Given the description of an element on the screen output the (x, y) to click on. 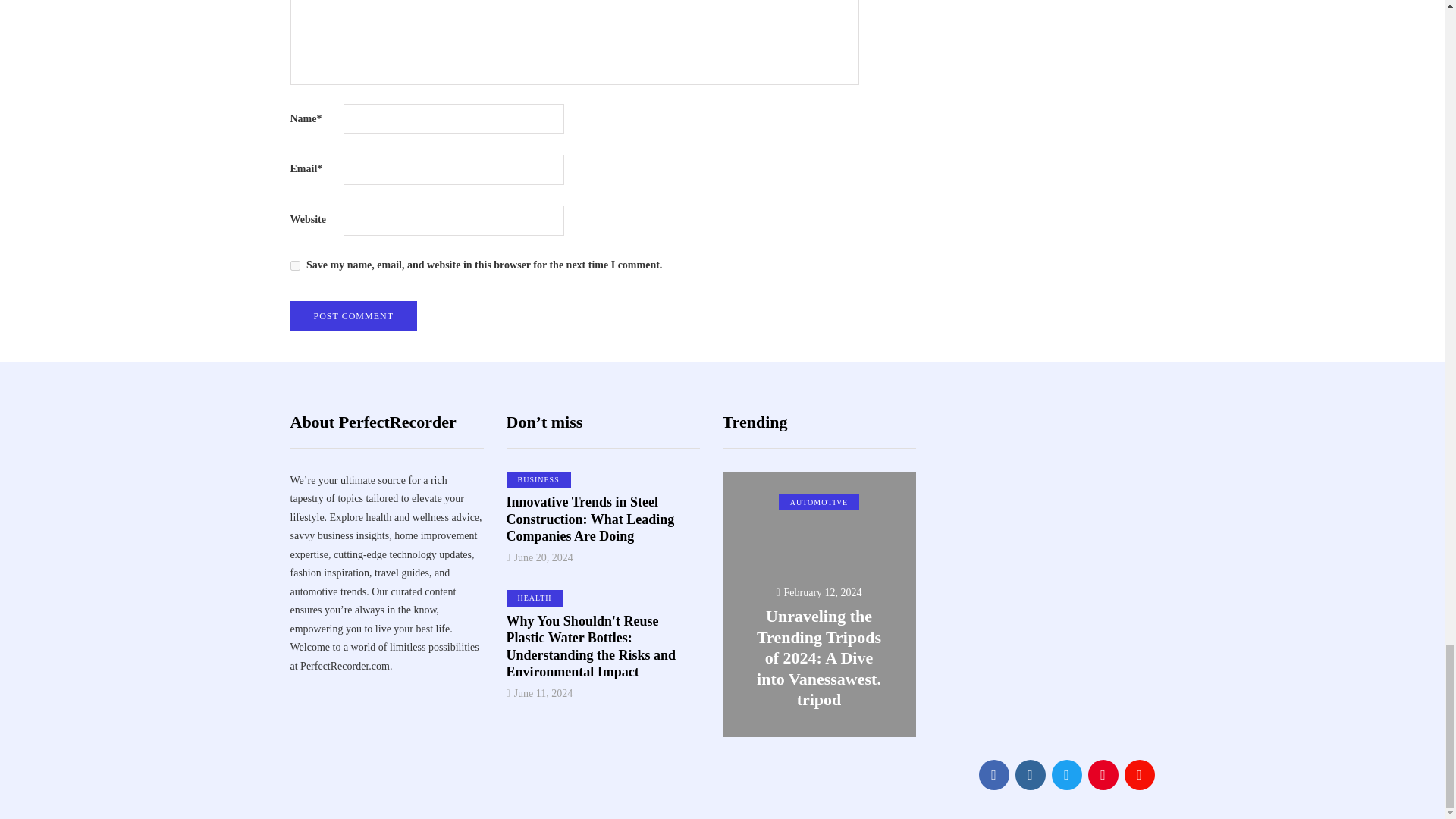
yes (294, 266)
Post comment (352, 316)
